Given the description of an element on the screen output the (x, y) to click on. 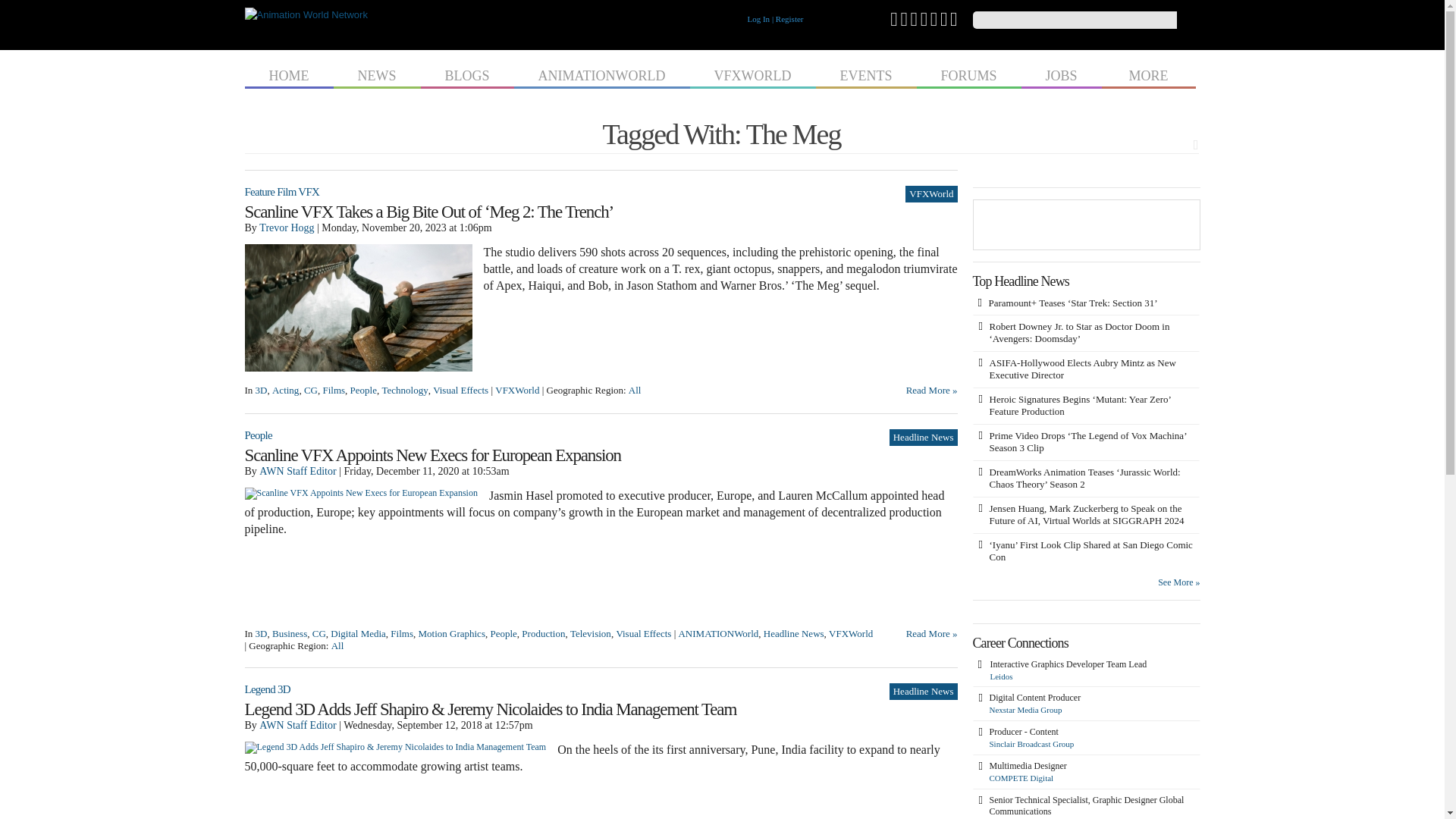
EVENTS (866, 73)
HOME (288, 73)
Search (1187, 19)
Enter the terms you wish to search for. (1074, 19)
Register (789, 18)
Log In (758, 18)
Animation World Network (305, 14)
VFXWORLD (752, 73)
FORUMS (967, 73)
Feature Film VFX (281, 191)
JOBS (1062, 73)
ANIMATIONWORLD (601, 73)
BLOGS (466, 73)
Skip to main content (693, 1)
VFXWorld (930, 193)
